Given the description of an element on the screen output the (x, y) to click on. 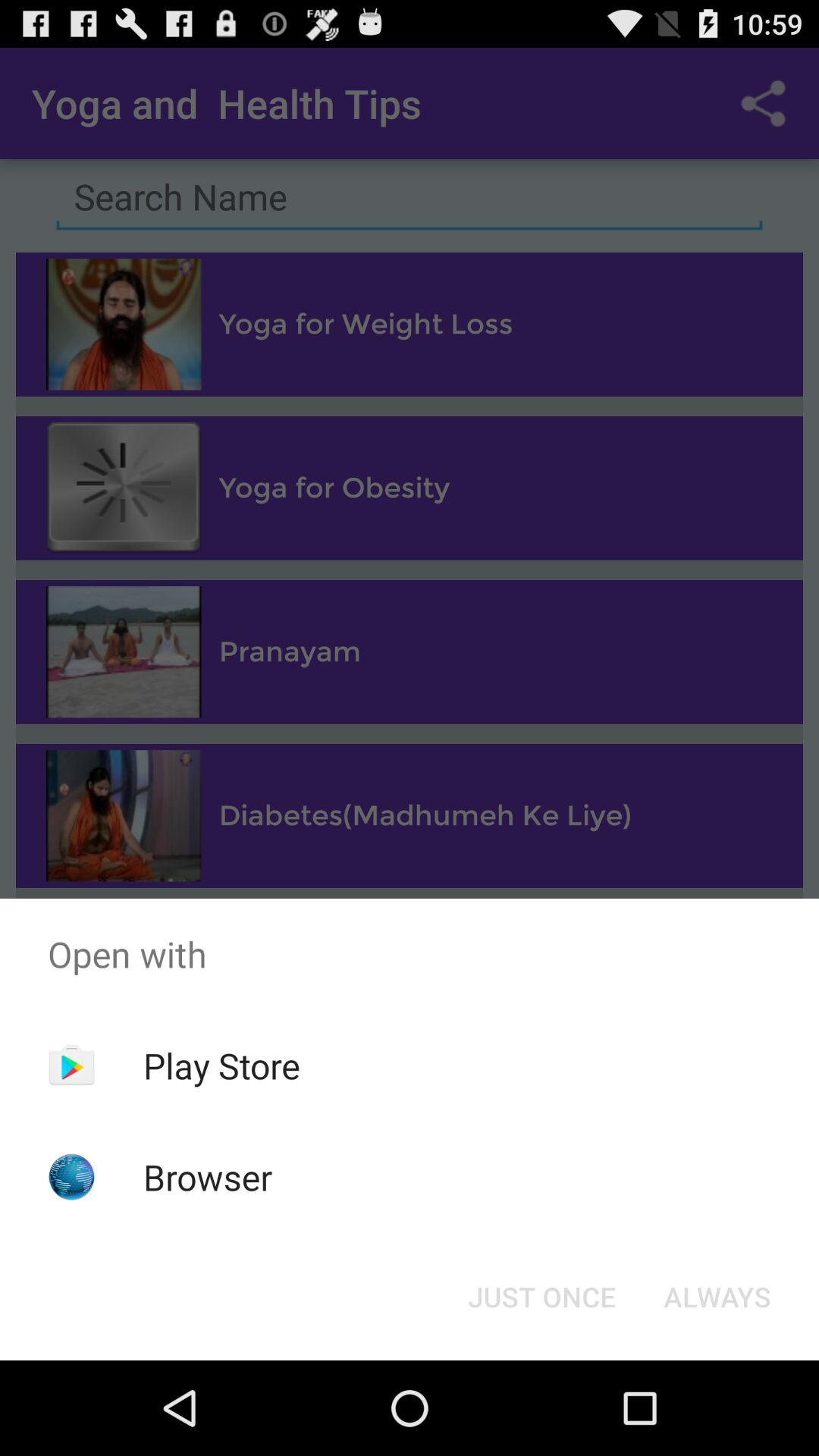
open always at the bottom right corner (717, 1296)
